Given the description of an element on the screen output the (x, y) to click on. 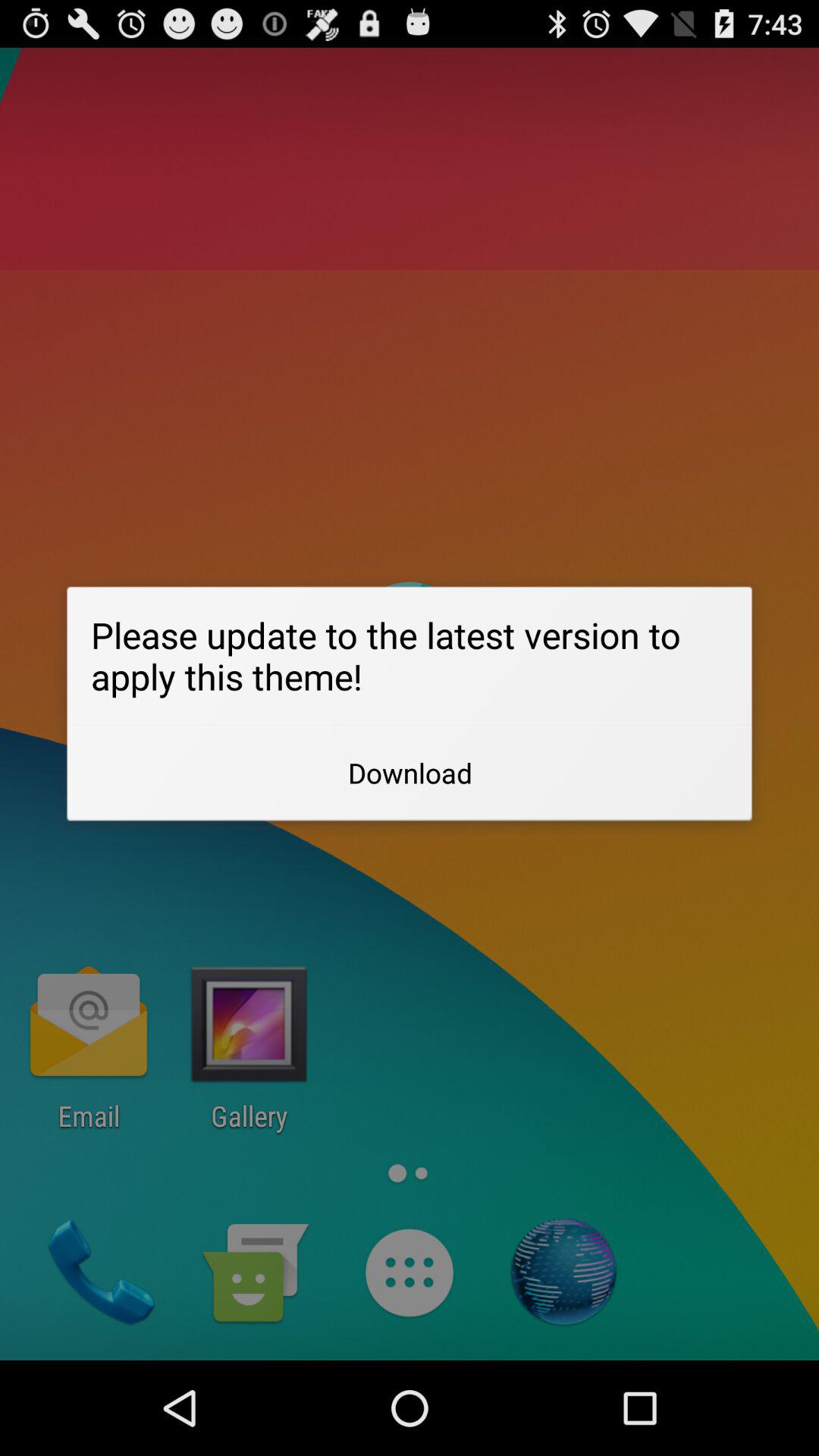
jump to download item (409, 772)
